Given the description of an element on the screen output the (x, y) to click on. 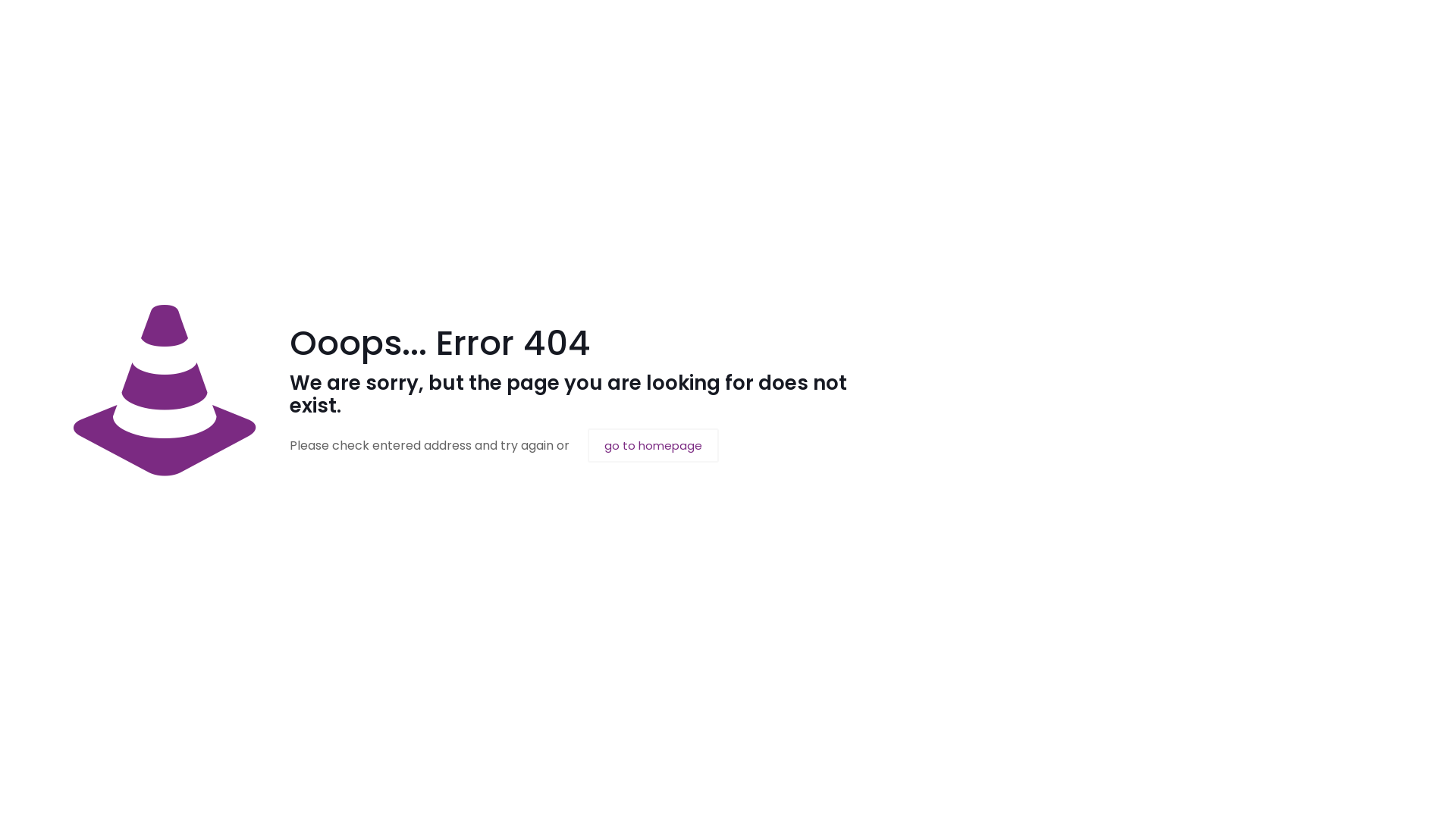
go to homepage Element type: text (652, 445)
